Given the description of an element on the screen output the (x, y) to click on. 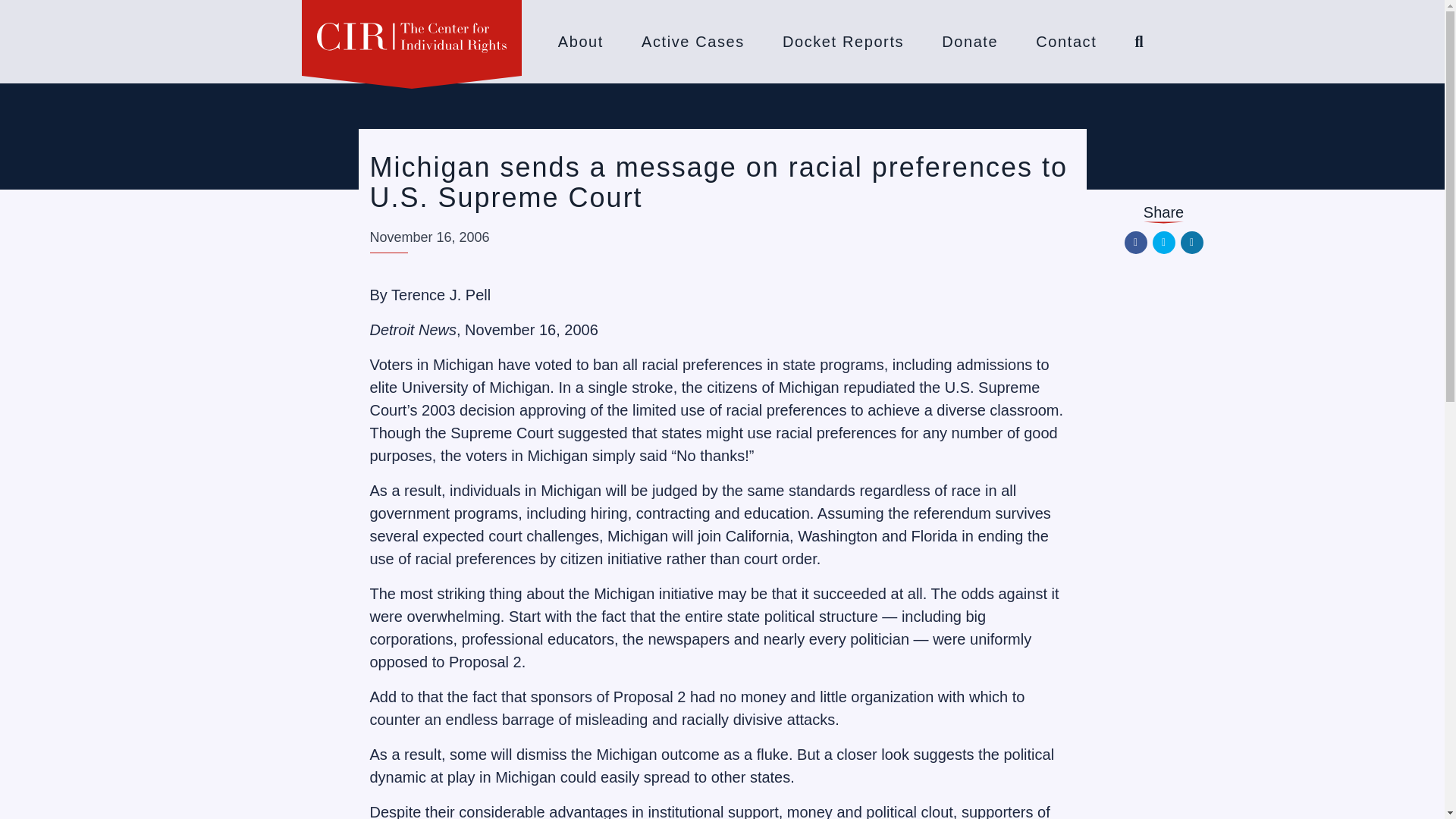
Facebook (1135, 241)
About (580, 41)
Active Cases (693, 41)
Twitter (1163, 241)
Donate (969, 41)
Docket Reports (843, 41)
Contact (1065, 41)
LinkedIn (1190, 241)
